Given the description of an element on the screen output the (x, y) to click on. 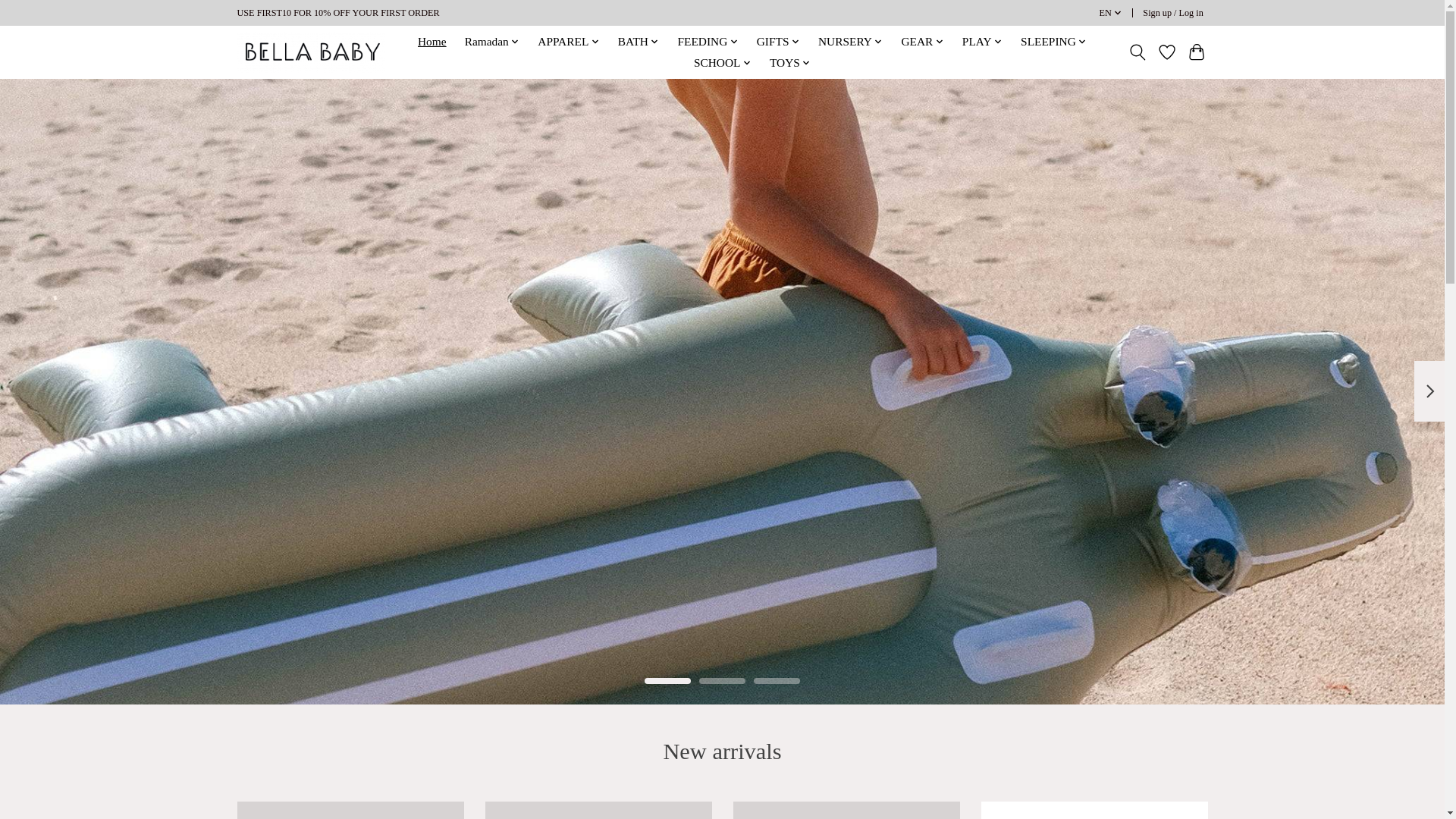
BATH (638, 41)
Home (431, 41)
KANE DOUBLE POCKET BACKPACK (845, 810)
KANE DOUBLE POCKET BACKPACK (349, 810)
EN (1110, 13)
APPAREL (568, 41)
KANE DOUBLE POCKET BACKPACK (597, 810)
BellaBaby (309, 51)
My account (1173, 13)
Ramadan (491, 41)
